Given the description of an element on the screen output the (x, y) to click on. 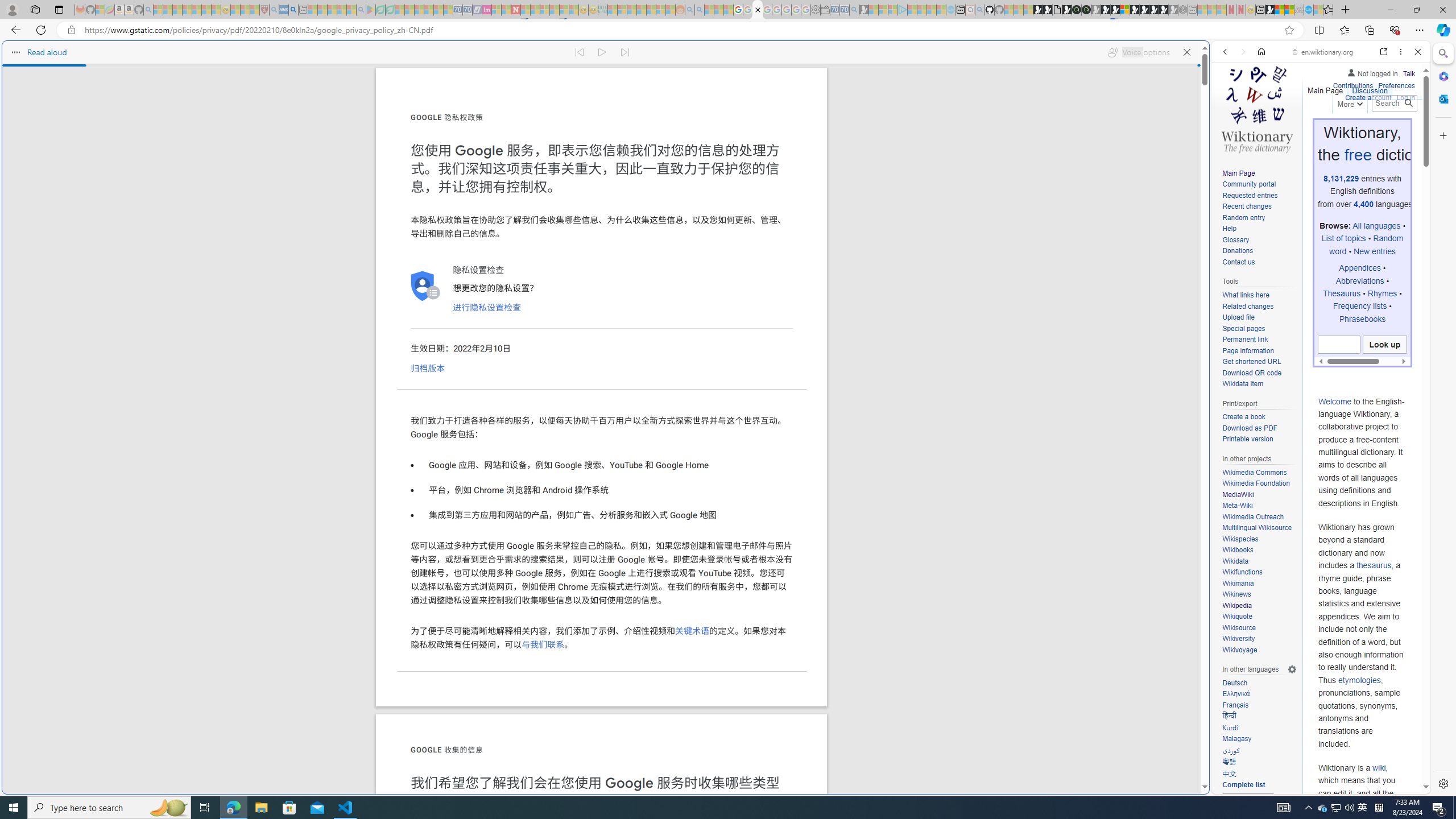
etymologies (1359, 679)
VIDEOS (1300, 130)
Related changes (1247, 306)
Recent changes (1246, 206)
Glossary (1235, 239)
Local - MSN - Sleeping (254, 9)
Microsoft account | Privacy - Sleeping (892, 9)
Contributions (1352, 84)
Play Free Online Games | Games from Microsoft Start (1144, 9)
